Given the description of an element on the screen output the (x, y) to click on. 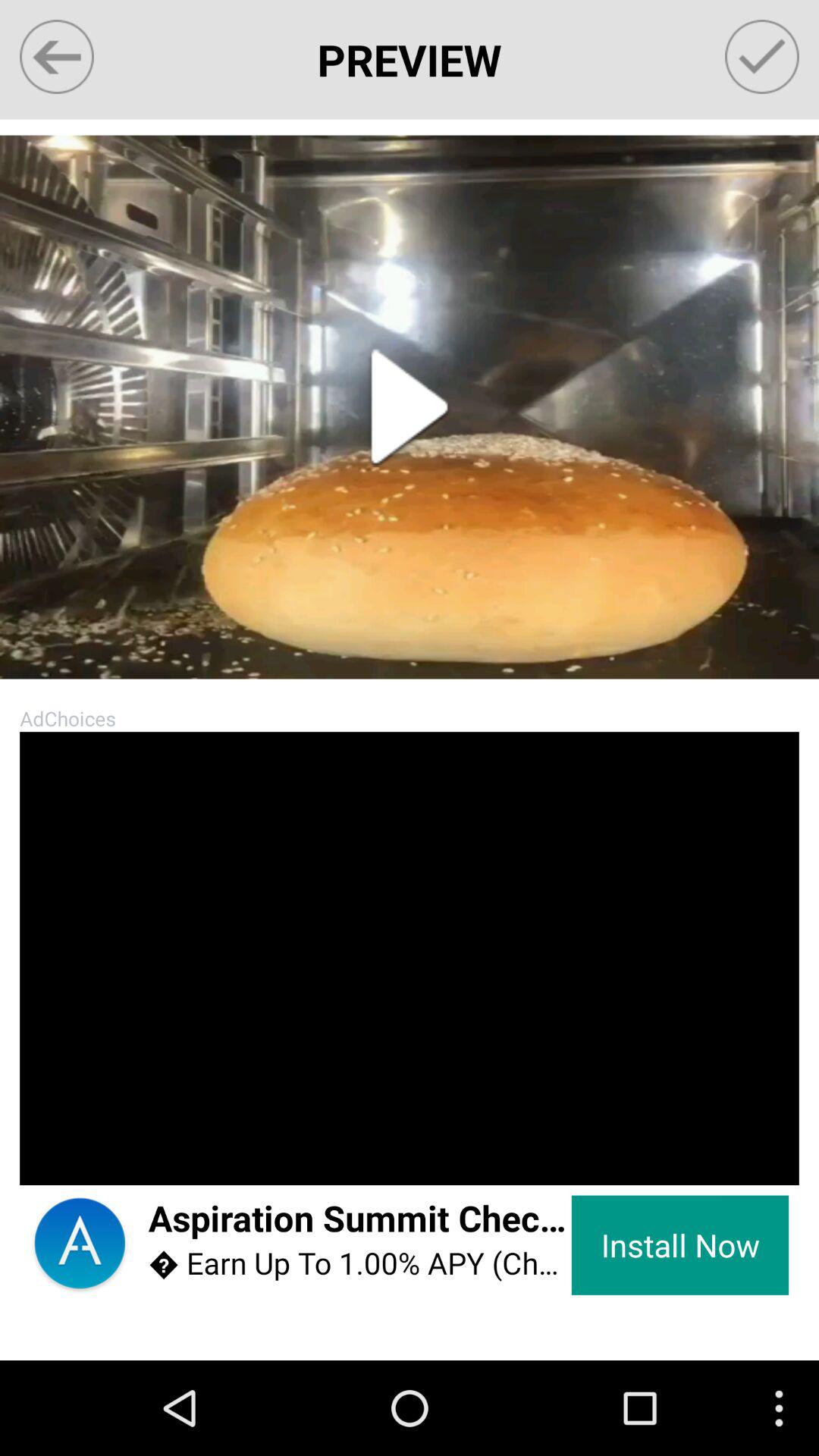
open the item to the right of the preview item (762, 56)
